Given the description of an element on the screen output the (x, y) to click on. 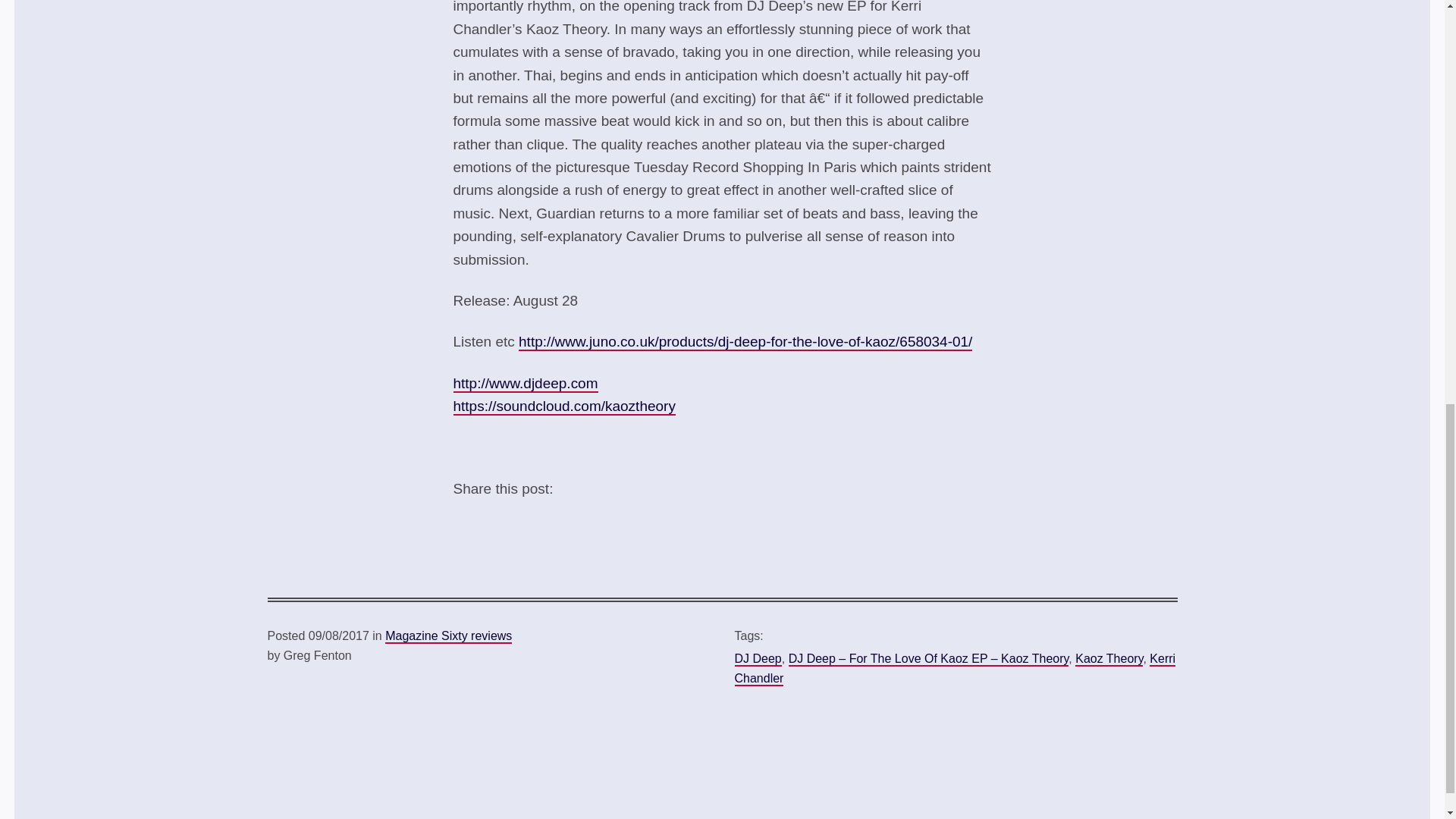
DJ Deep (756, 658)
Magazine Sixty reviews (448, 636)
Kerri Chandler (953, 668)
Kaoz Theory (1108, 658)
